Given the description of an element on the screen output the (x, y) to click on. 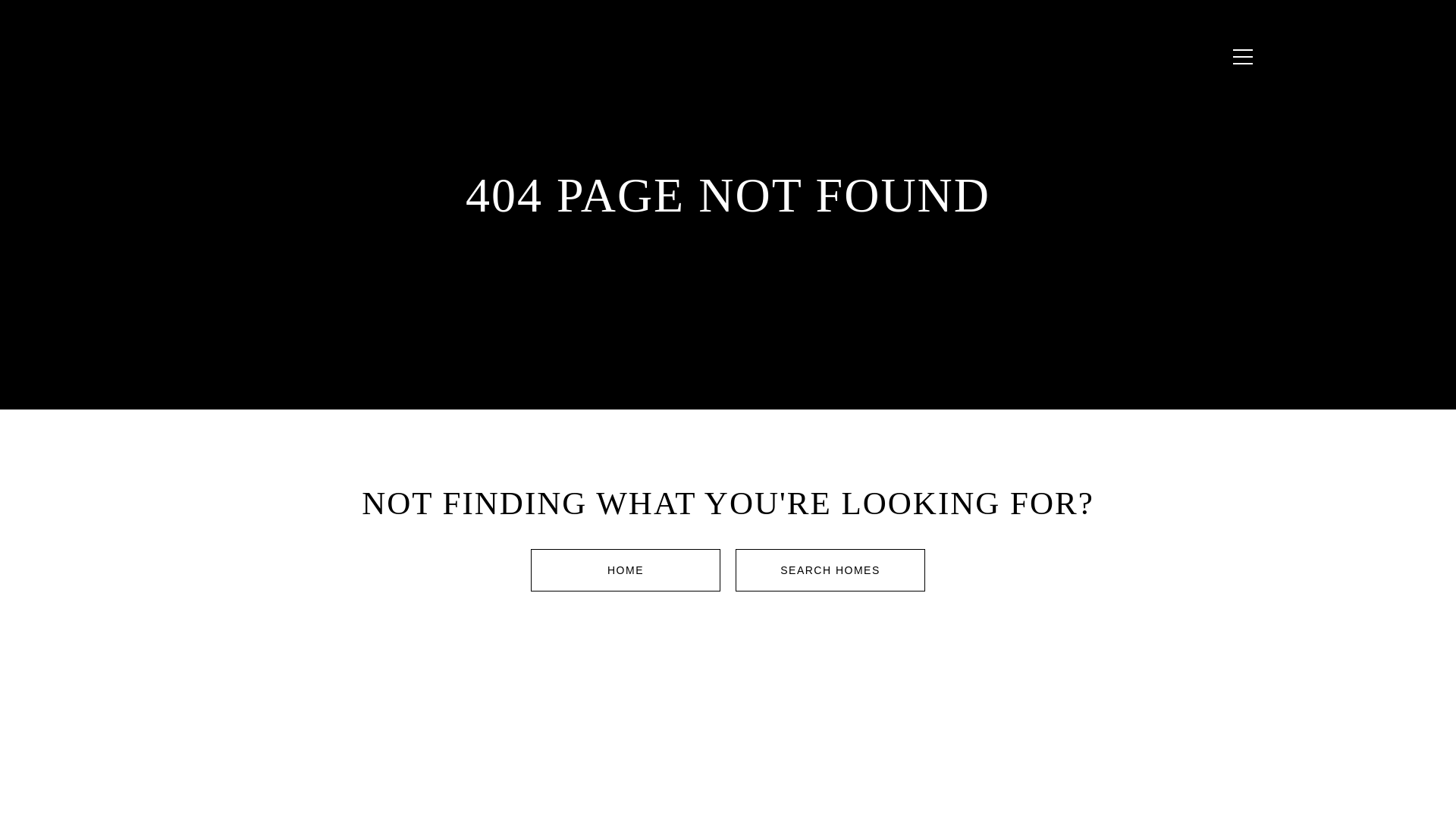
HOME (625, 569)
SEARCH HOMES (829, 569)
